Given the description of an element on the screen output the (x, y) to click on. 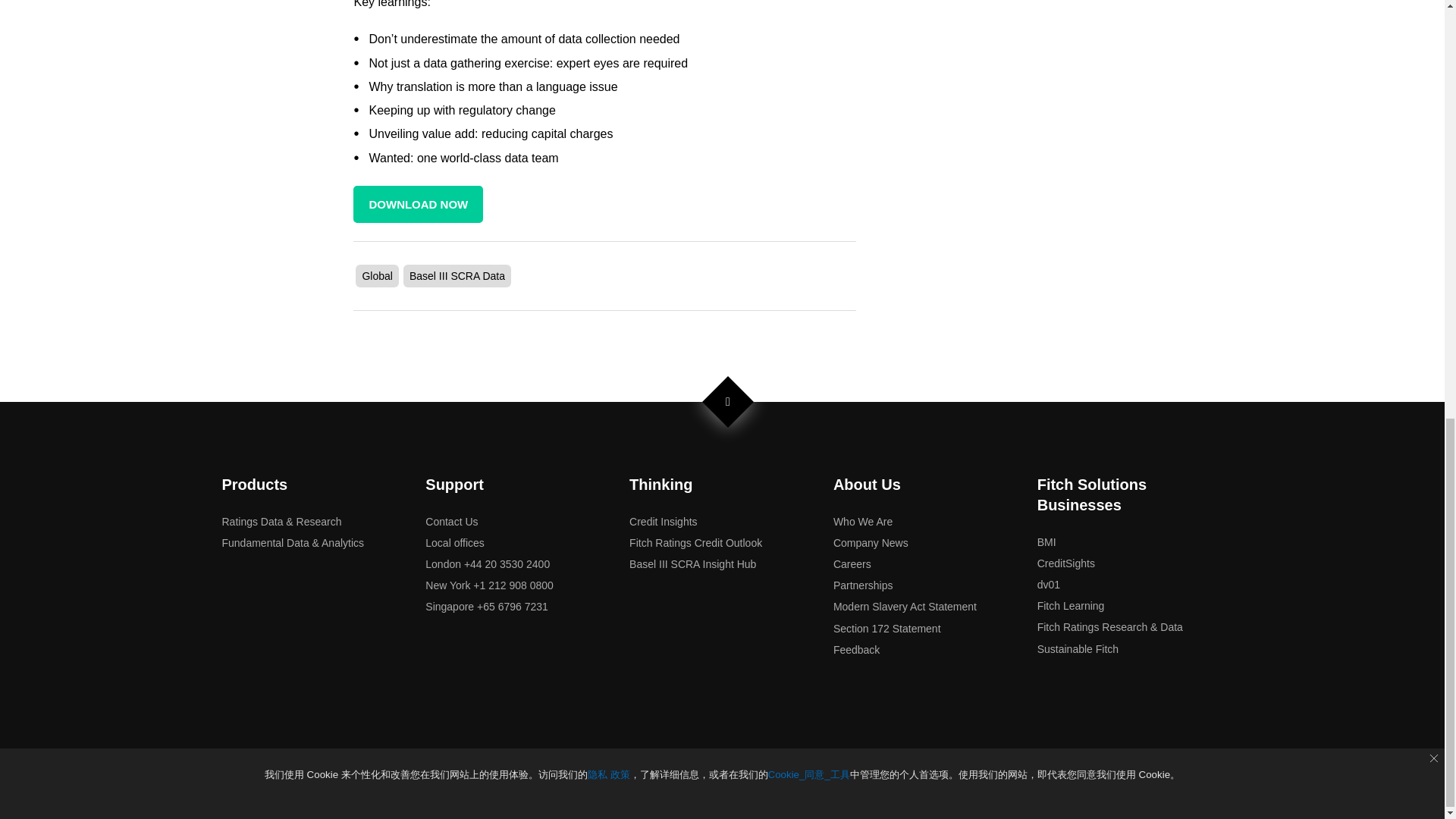
Contact Us (451, 521)
Credit Insights (662, 521)
Who We Are (862, 521)
DOWNLOAD NOW (418, 203)
Basel III SCRA Insight Hub (691, 563)
Company News (870, 542)
Global (376, 275)
Basel III SCRA Data (457, 275)
Fitch Ratings Credit Outlook (694, 542)
Local offices (454, 542)
